Given the description of an element on the screen output the (x, y) to click on. 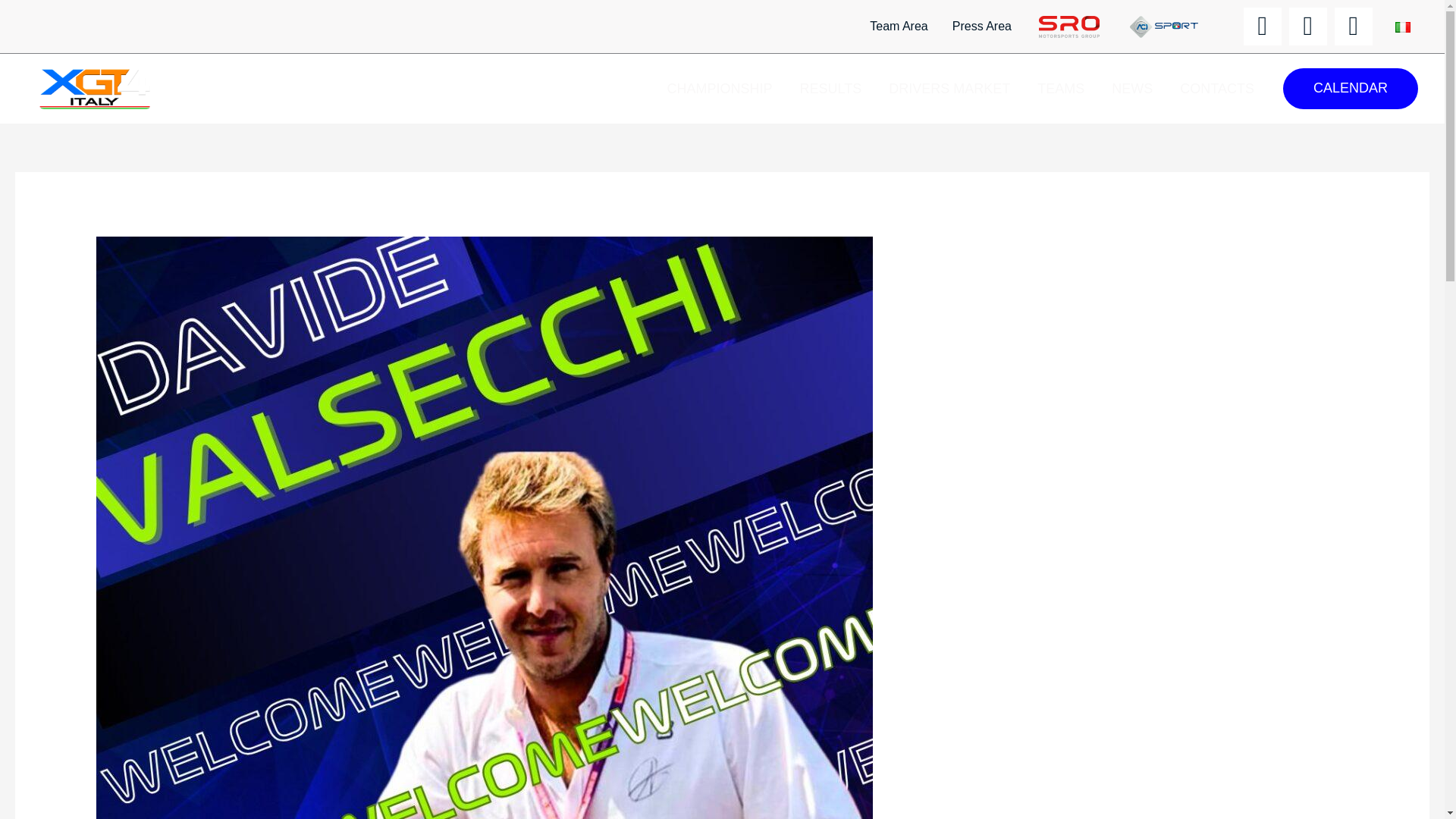
TEAMS (1060, 88)
Press Area (981, 26)
NEWS (1131, 88)
DRIVERS MARKET (949, 88)
CONTACTS (1217, 88)
RESULTS (831, 88)
CALENDAR (1350, 87)
CHAMPIONSHIP (719, 88)
Team Area (898, 26)
